Given the description of an element on the screen output the (x, y) to click on. 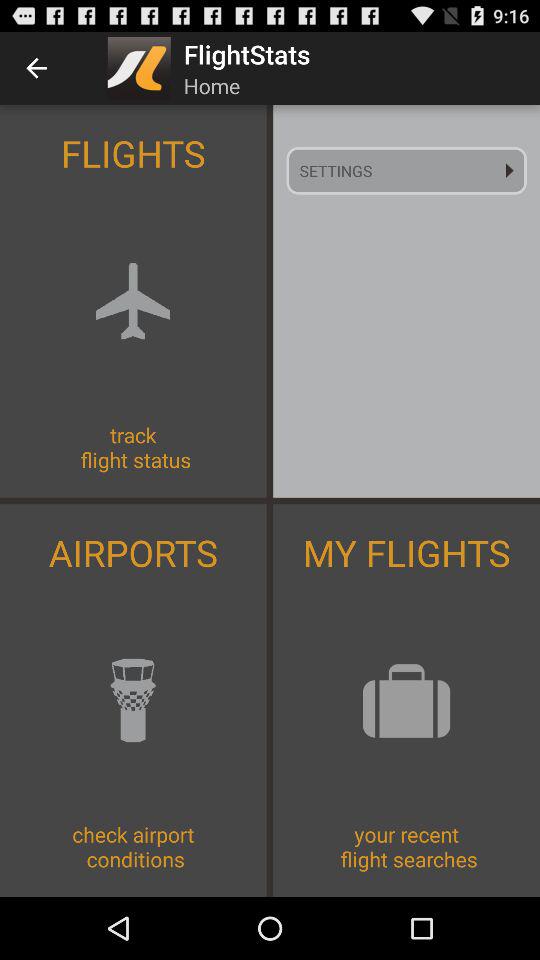
choose settings (406, 170)
